Given the description of an element on the screen output the (x, y) to click on. 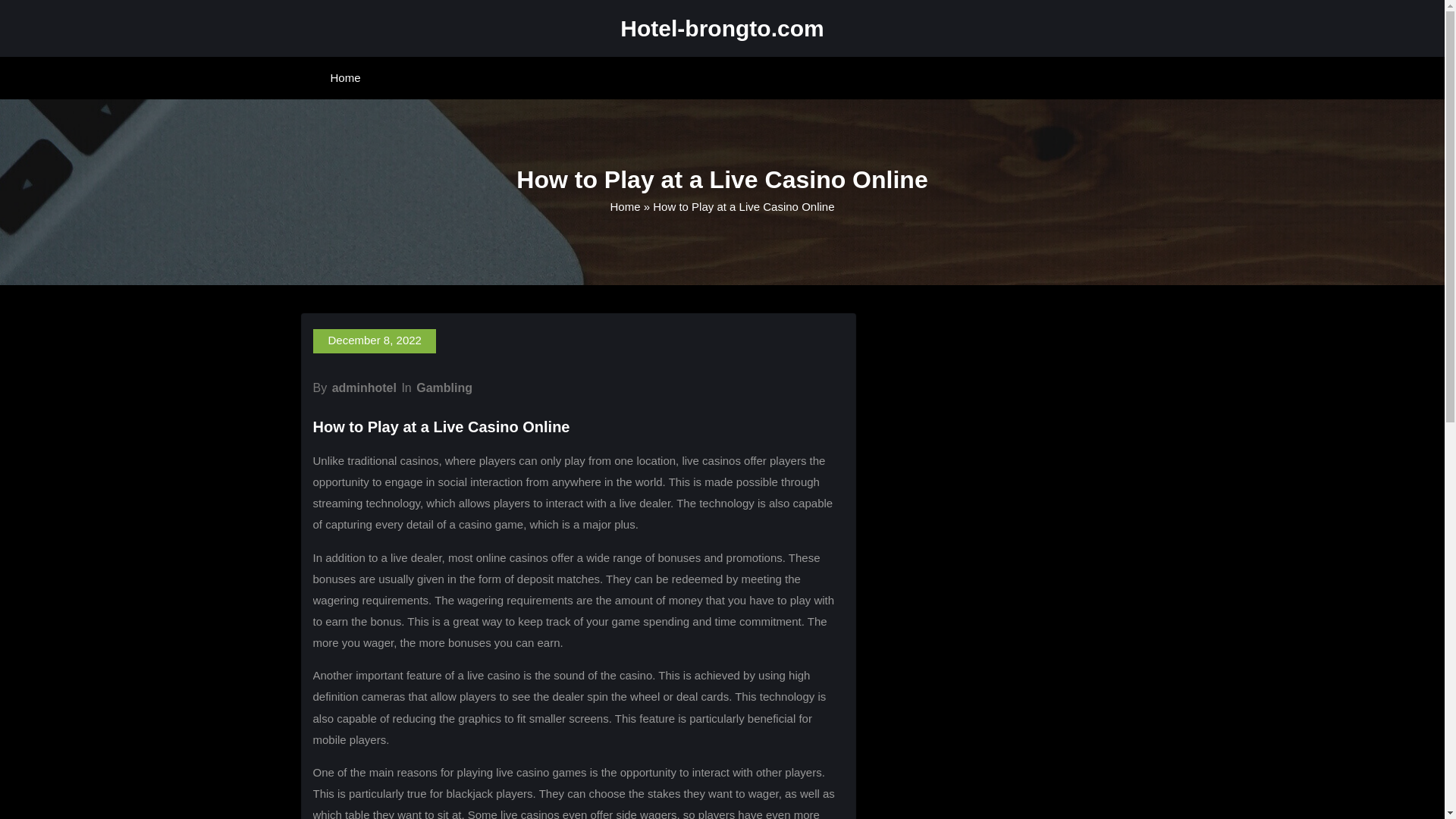
Hotel-brongto.com (722, 27)
December 8, 2022 (374, 340)
Home (625, 205)
adminhotel (363, 387)
Gambling (444, 387)
Home (345, 77)
Home (345, 77)
